Given the description of an element on the screen output the (x, y) to click on. 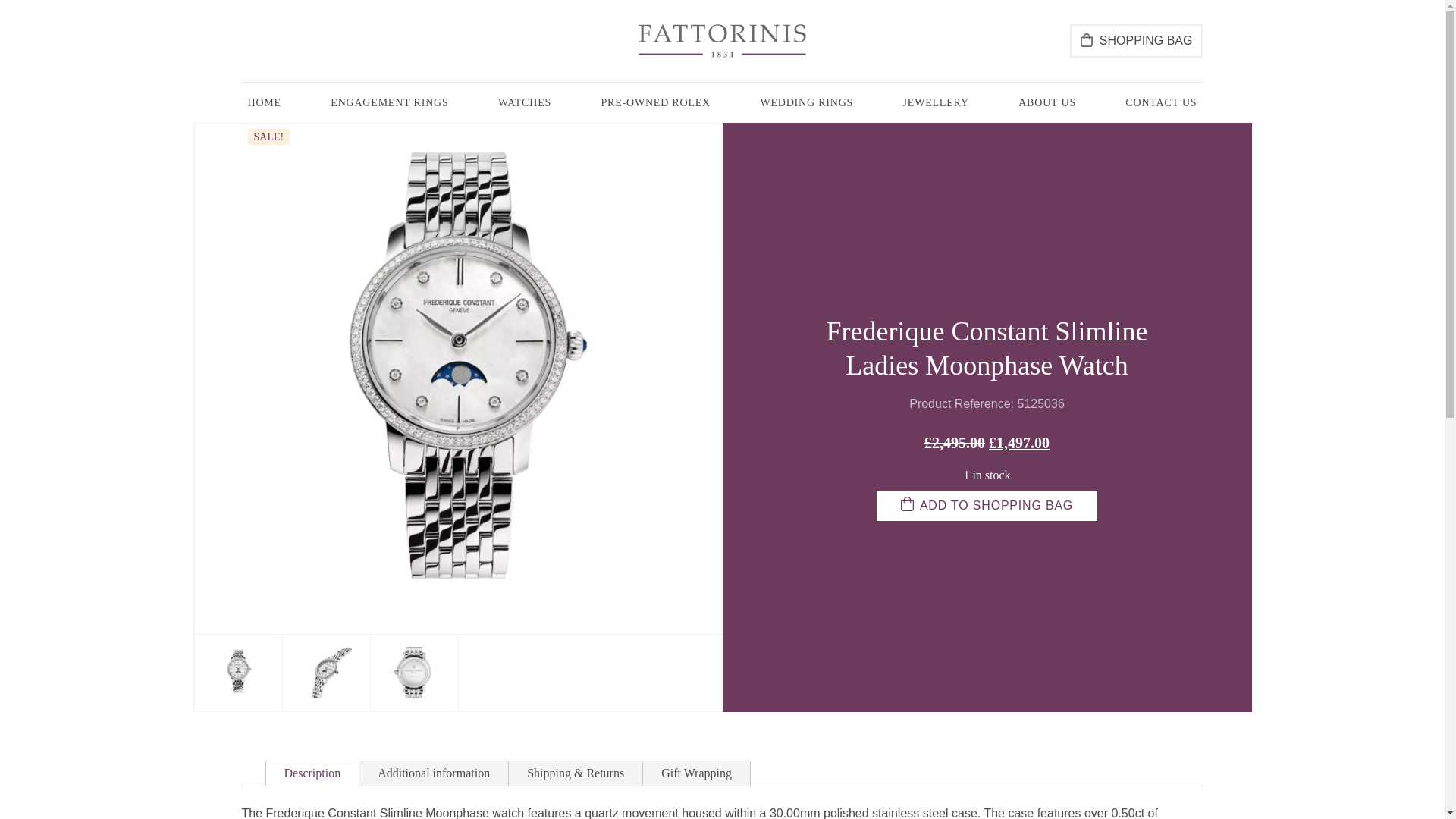
CONTACT US (1160, 102)
Gift Wrapping (696, 773)
SHOPPING BAG (1136, 40)
Additional information (433, 773)
WEDDING RINGS (806, 102)
ABOUT US (1046, 102)
ENGAGEMENT RINGS (389, 102)
HOME (263, 102)
WATCHES (524, 102)
